Given the description of an element on the screen output the (x, y) to click on. 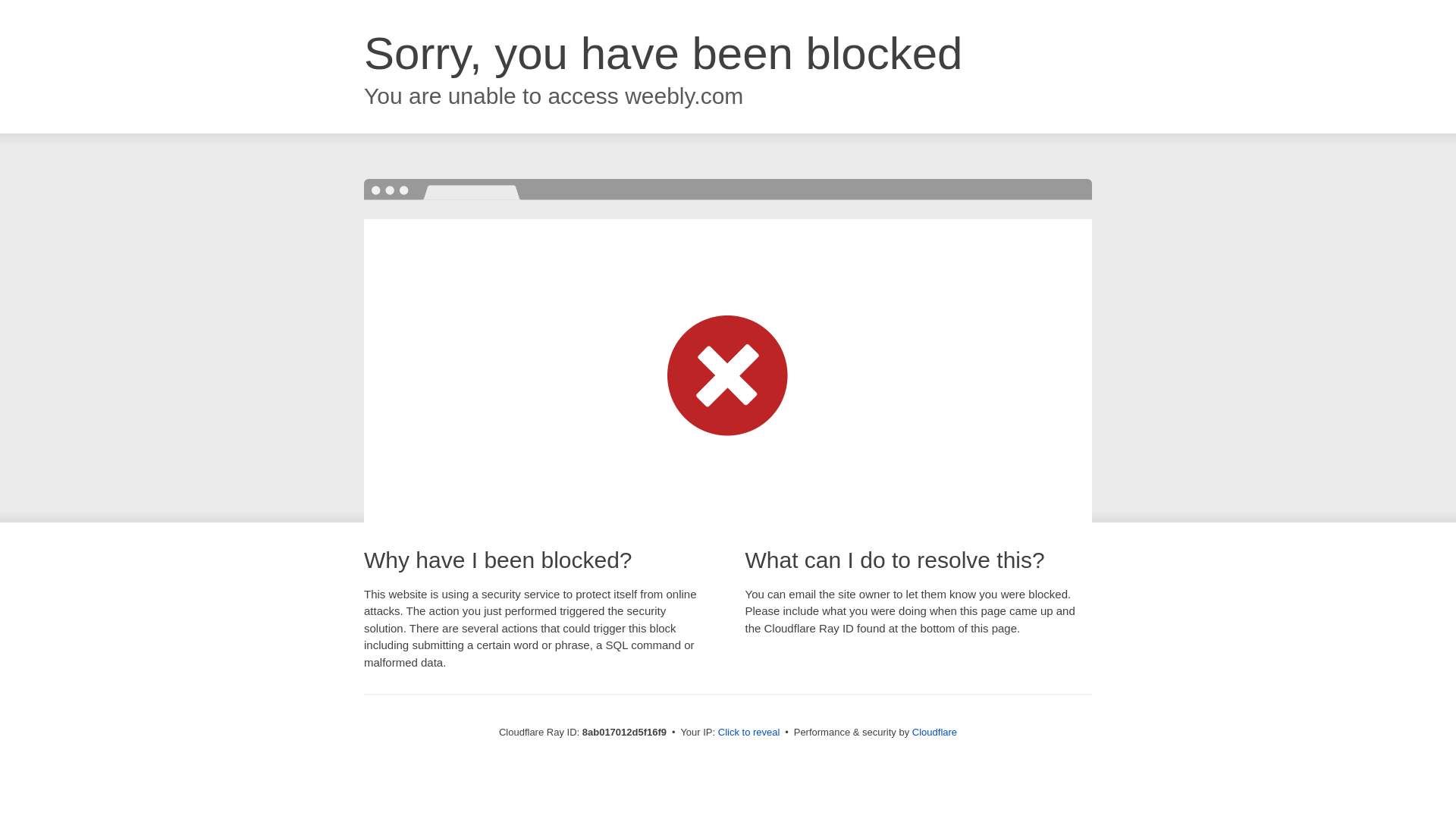
Cloudflare (934, 731)
Click to reveal (748, 732)
